Given the description of an element on the screen output the (x, y) to click on. 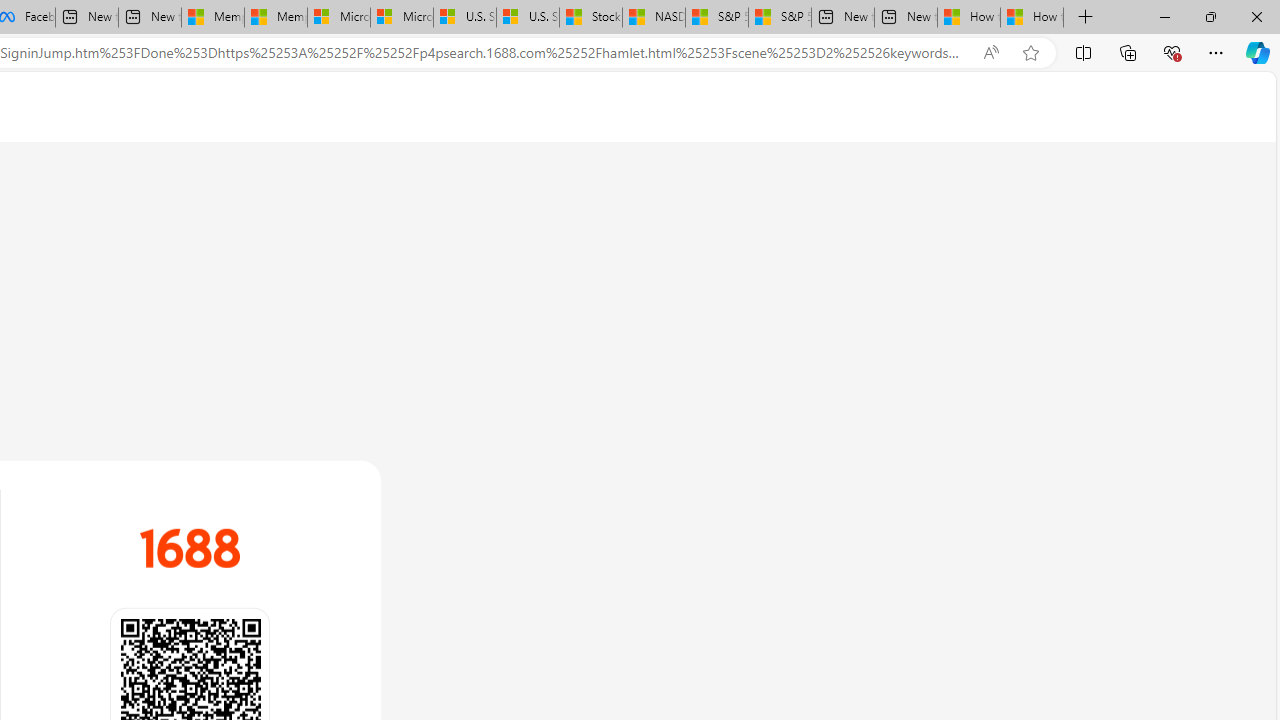
Read aloud this page (Ctrl+Shift+U) (991, 53)
S&P 500, Nasdaq end lower, weighed by Nvidia dip | Watch (779, 17)
